Given the description of an element on the screen output the (x, y) to click on. 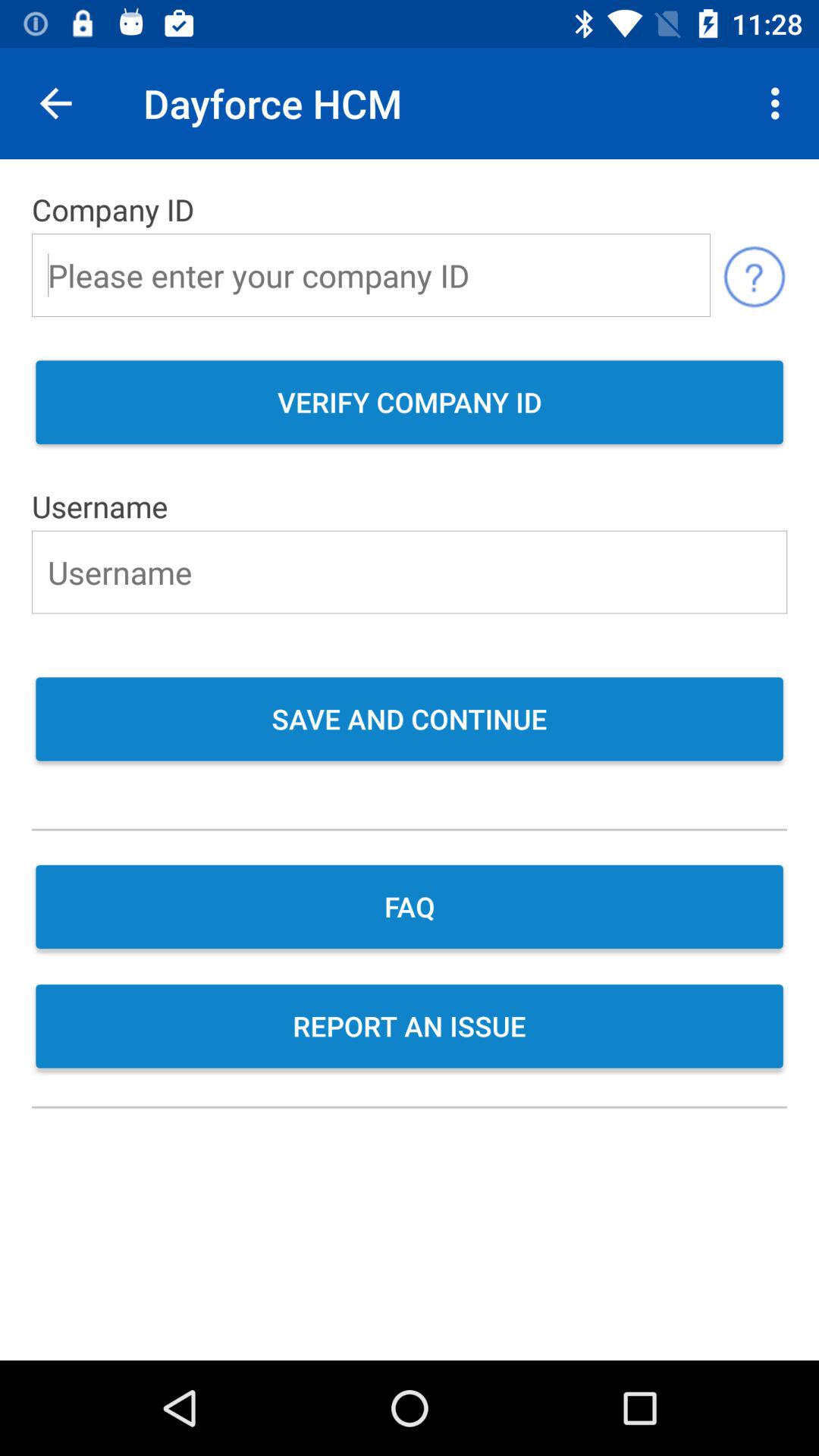
flip until faq (409, 908)
